Given the description of an element on the screen output the (x, y) to click on. 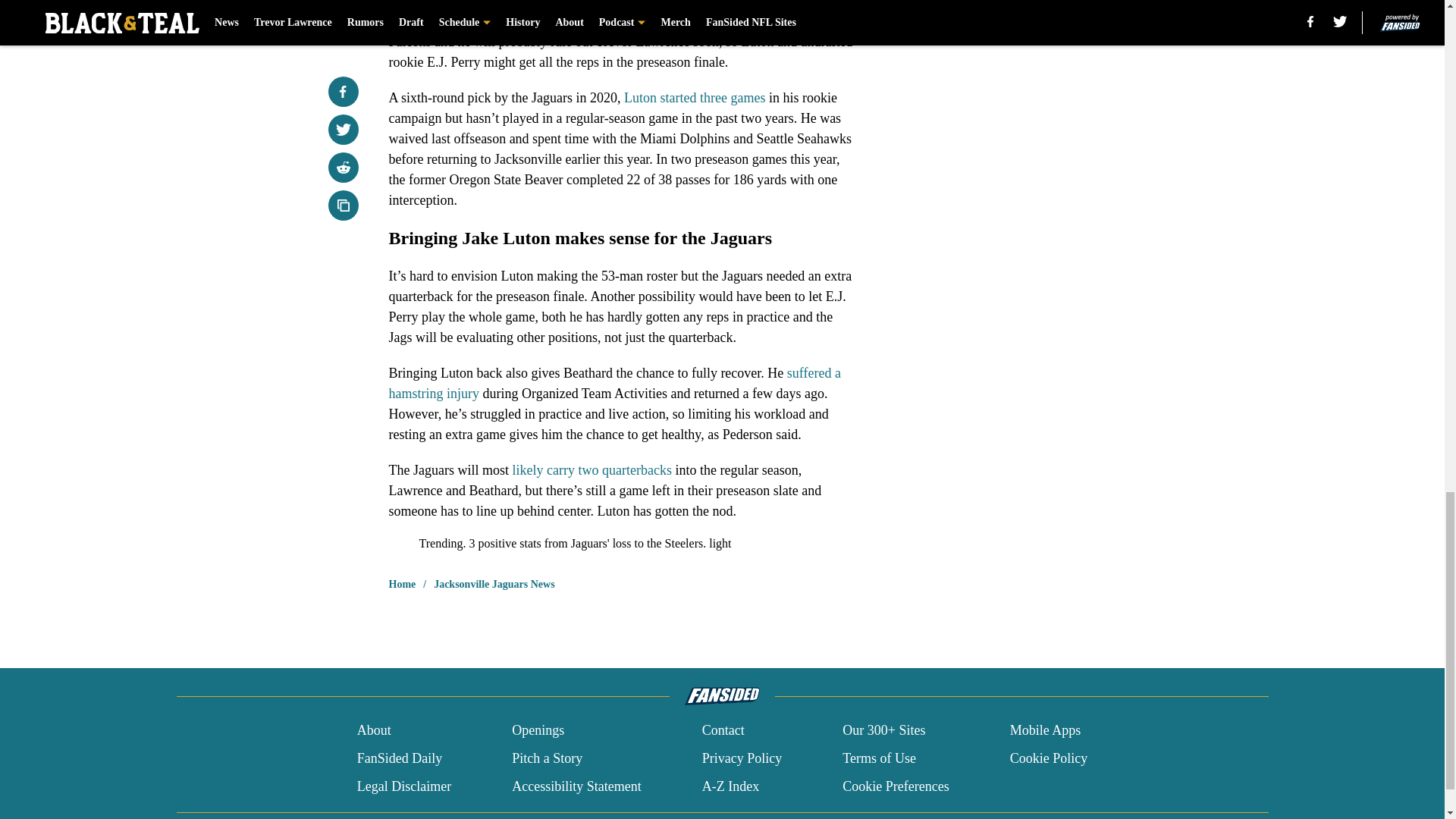
Jacksonville Jaguars News (493, 584)
Mobile Apps (1045, 730)
suffered a hamstring injury (614, 383)
Contact (722, 730)
Terms of Use (879, 758)
Openings (538, 730)
About (373, 730)
Cookie Policy (1048, 758)
Legal Disclaimer (403, 786)
Pitch a Story (547, 758)
